Given the description of an element on the screen output the (x, y) to click on. 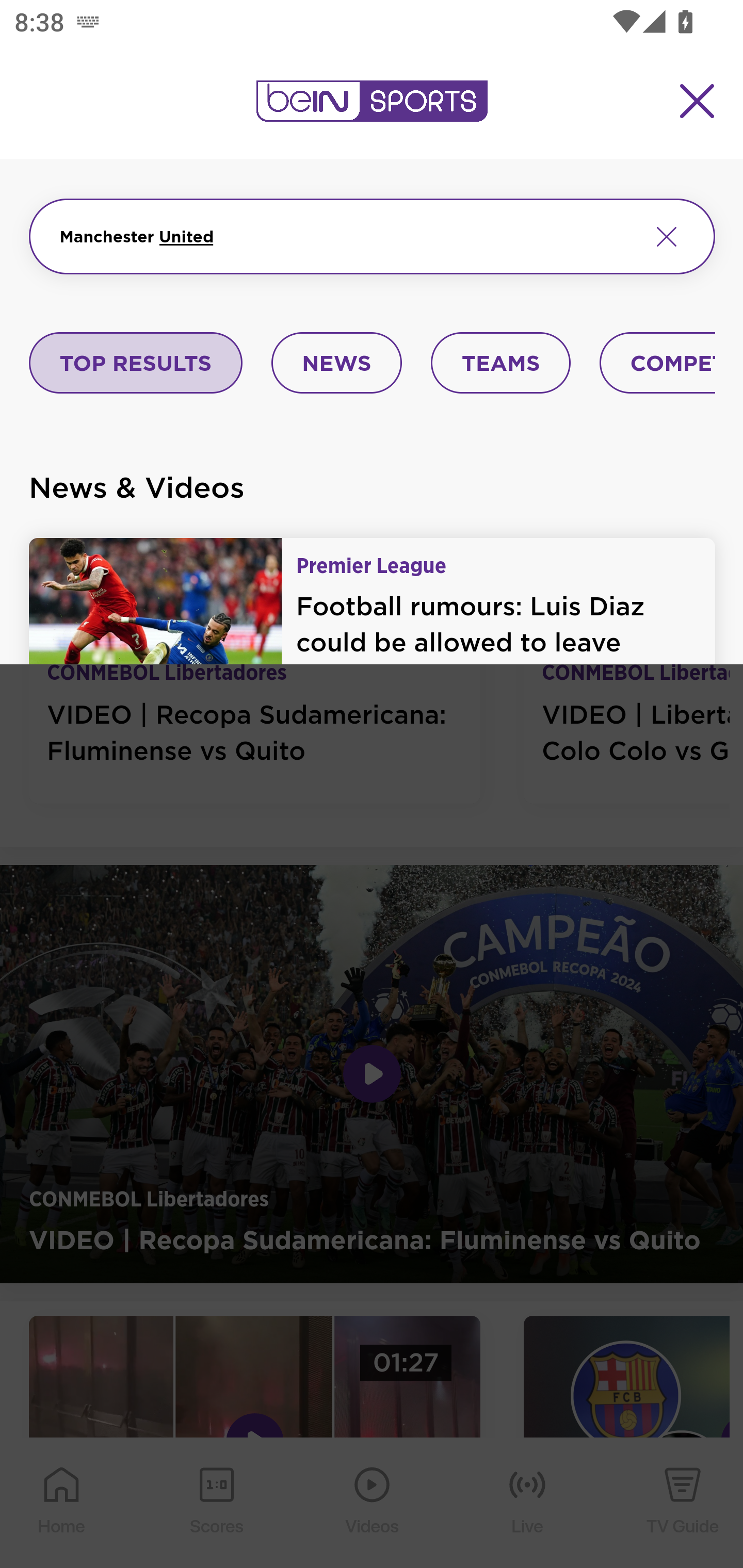
en-us?platform=mobile_android bein logo (371, 101)
Close Menu Icon (697, 101)
Manchester United (346, 235)
TOP RESULTS (135, 363)
NEWS (336, 363)
TEAMS (500, 363)
COMPETITIONS (657, 363)
